Given the description of an element on the screen output the (x, y) to click on. 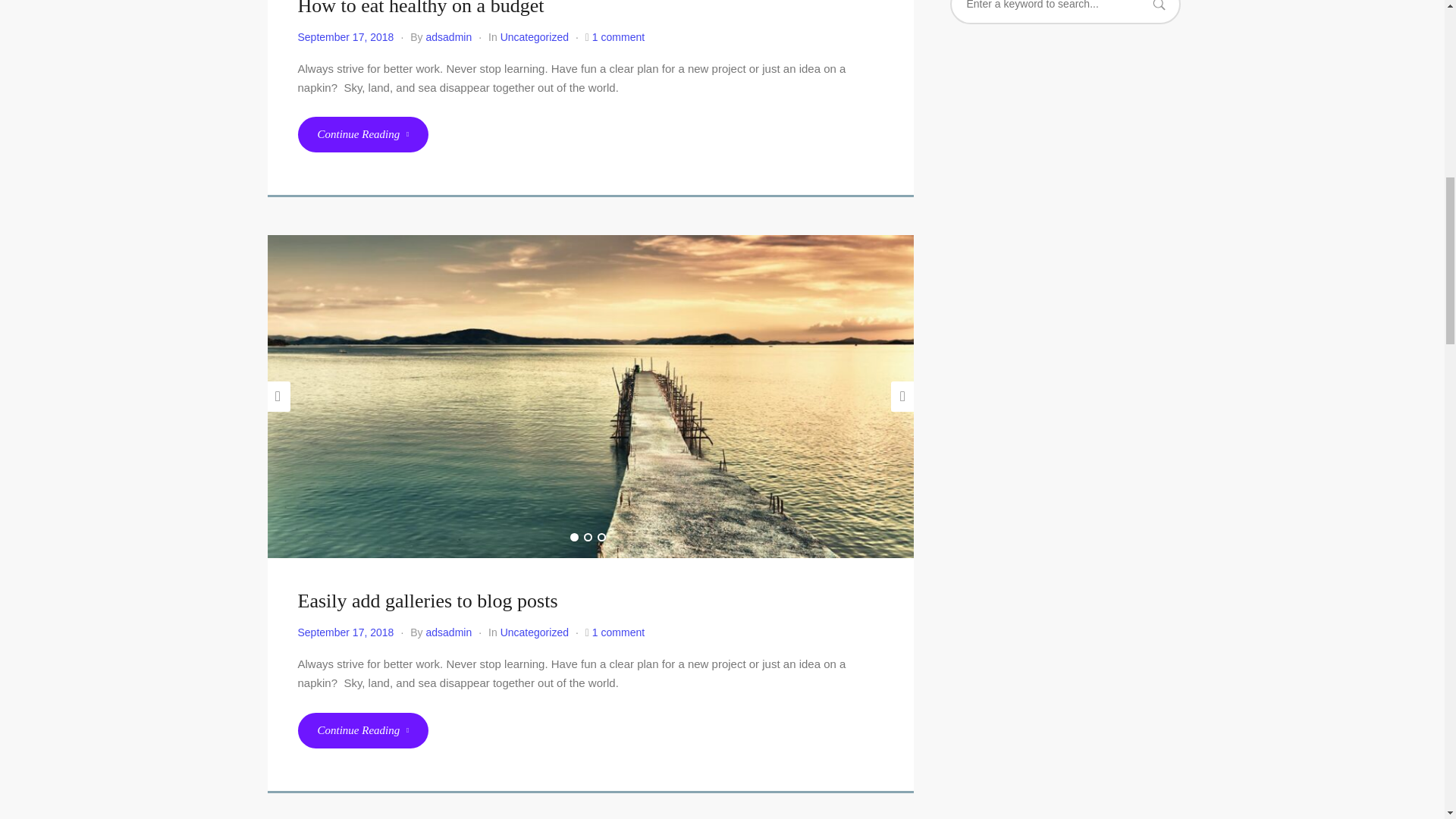
adsadmin (448, 632)
1 (574, 537)
How to eat healthy on a budget (420, 8)
Easily add galleries to blog posts (427, 600)
Uncategorized (534, 37)
Uncategorized (534, 632)
1 comment (618, 632)
Continue Reading (362, 730)
September 17, 2018 (345, 632)
September 17, 2018 (345, 37)
3 (600, 537)
1 comment (618, 37)
Continue Reading (362, 134)
2 (587, 537)
adsadmin (448, 37)
